Given the description of an element on the screen output the (x, y) to click on. 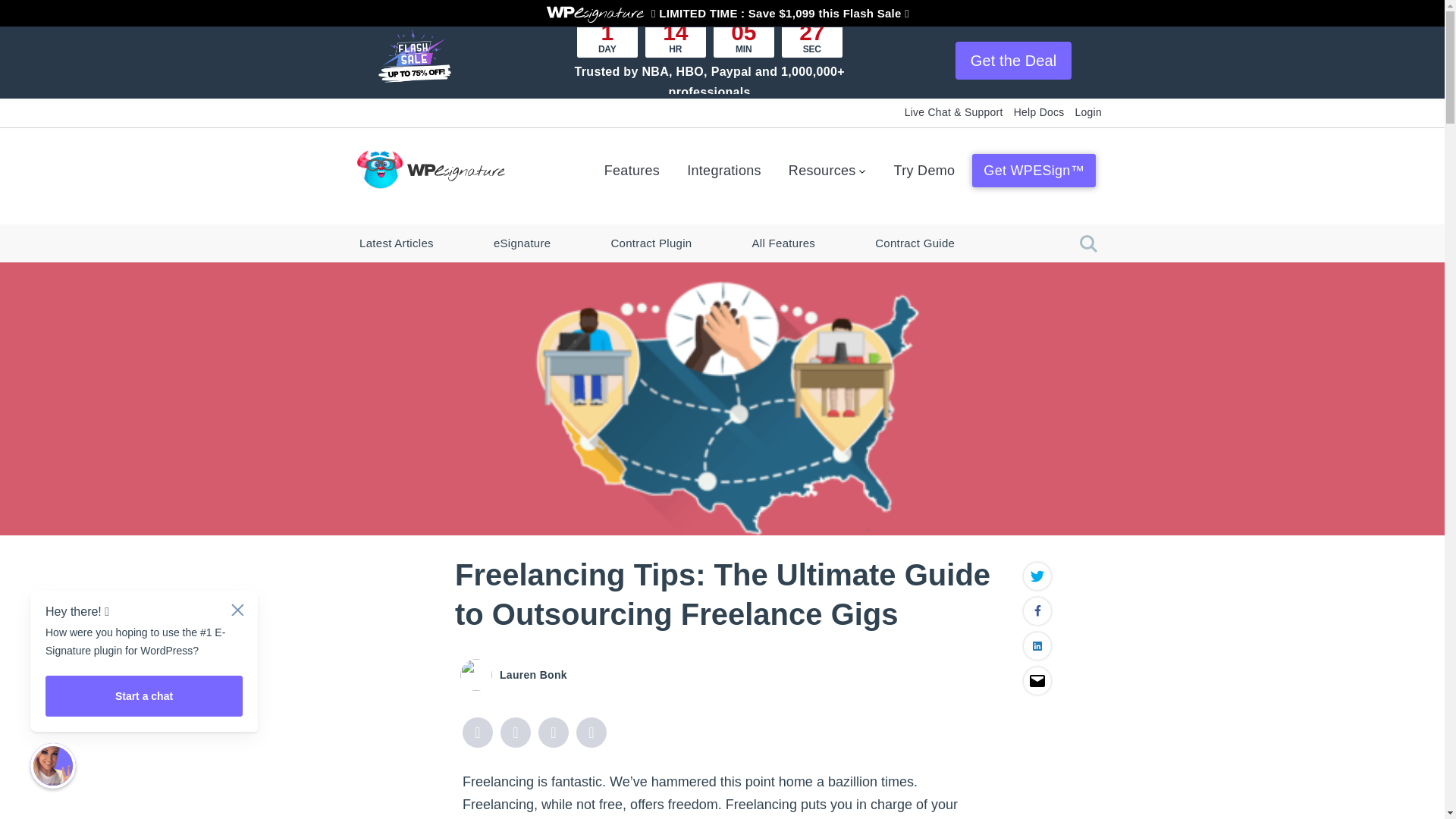
Try Demo (924, 165)
Get the Deal (1013, 60)
eSignature (522, 243)
WP E-Signature (595, 14)
Resources (827, 165)
Try Demo (924, 165)
Login (1088, 111)
Login (1088, 111)
Help Docs (1038, 111)
ApproveMe (424, 168)
Integrations (724, 165)
View ALL features (631, 165)
Features (631, 165)
Contract Plugin (650, 243)
Latest Articles (396, 243)
